Given the description of an element on the screen output the (x, y) to click on. 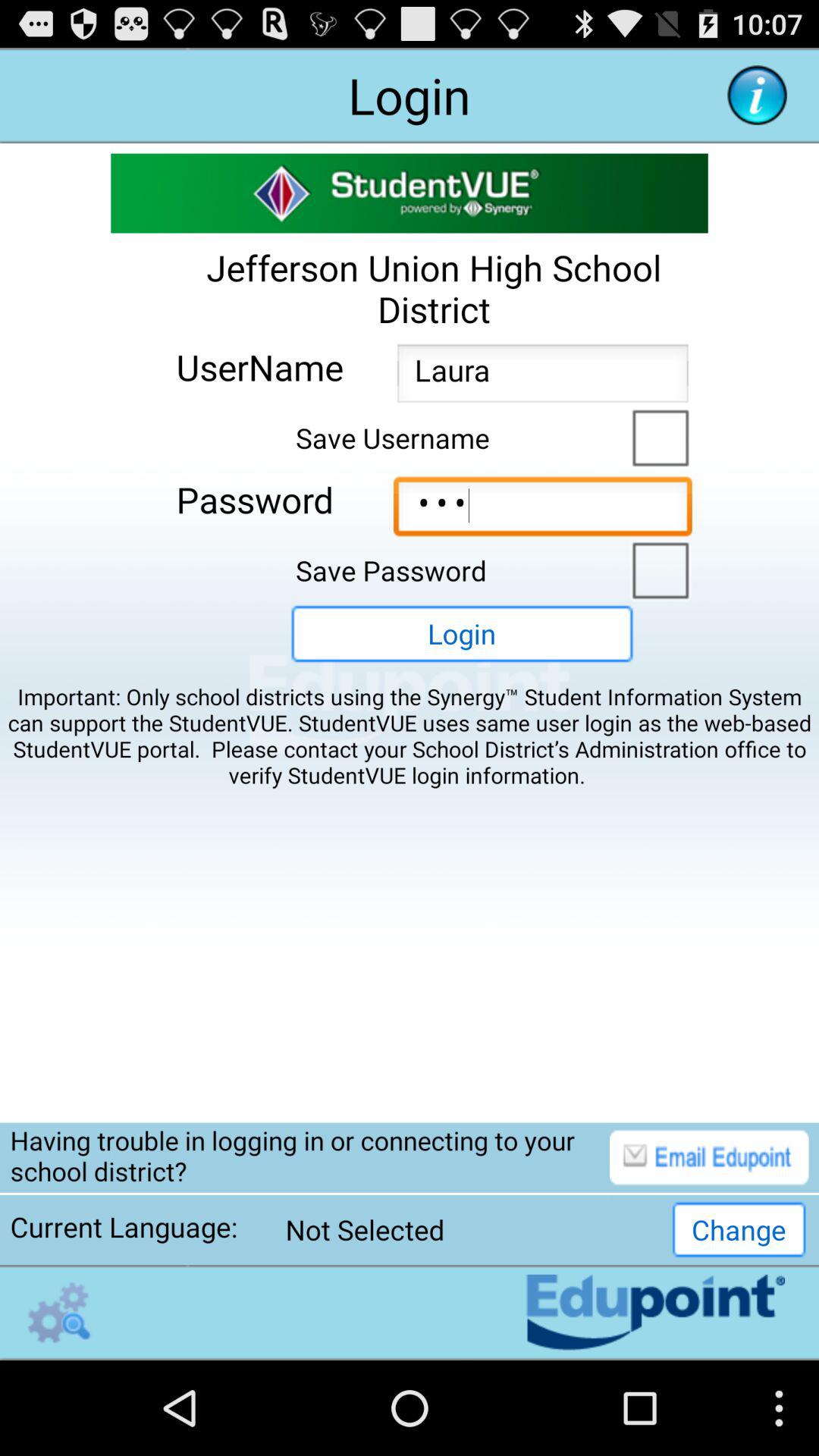
go to more information (757, 95)
